Given the description of an element on the screen output the (x, y) to click on. 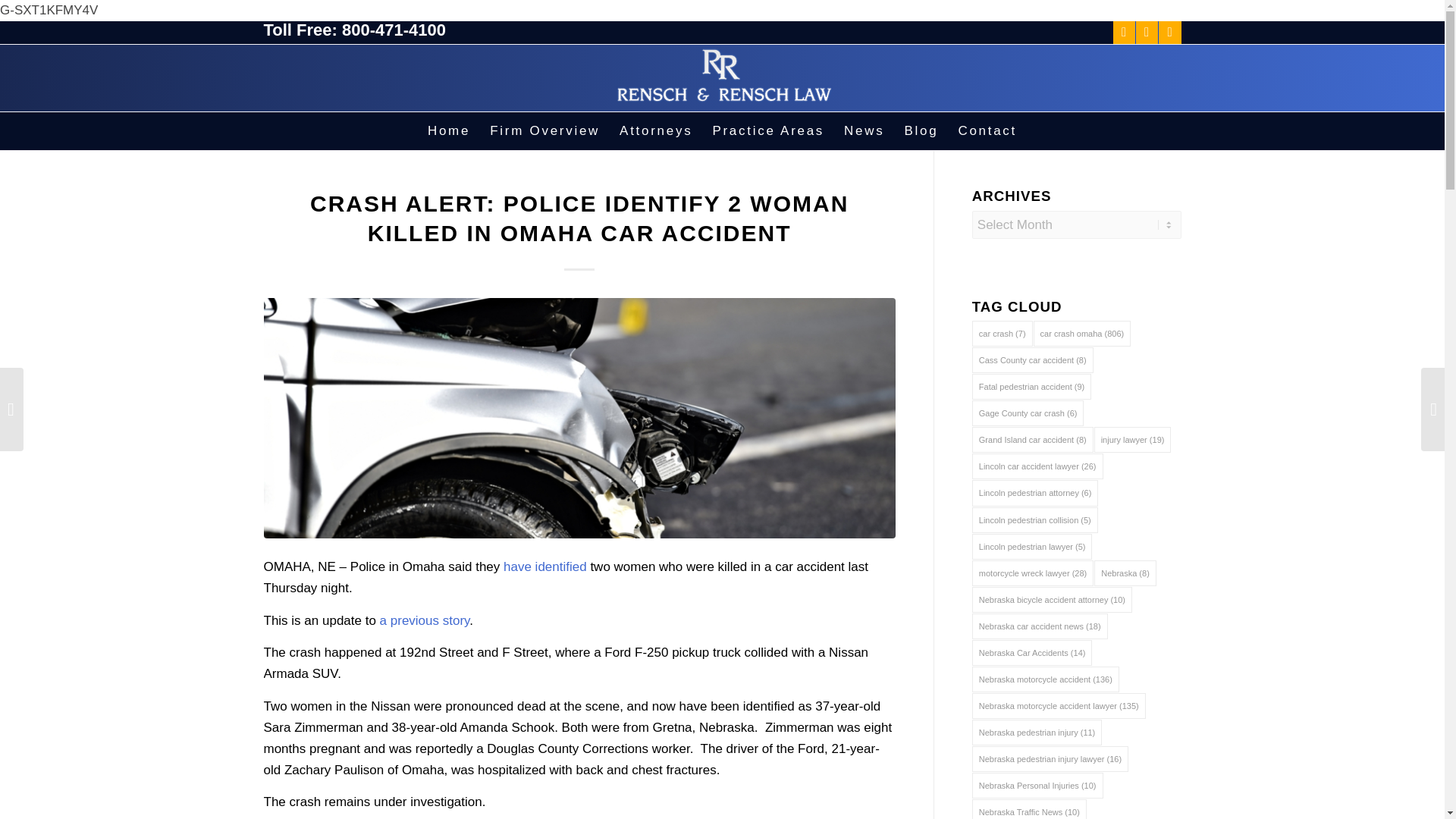
Toll Free: 800-471-4100 (354, 29)
Firm Overview (545, 130)
Twitter (1146, 32)
logo-rensch-law (722, 77)
Home (448, 130)
Attorneys (655, 130)
Practice Areas (767, 130)
Facebook (1124, 32)
LinkedIn (1169, 32)
